Given the description of an element on the screen output the (x, y) to click on. 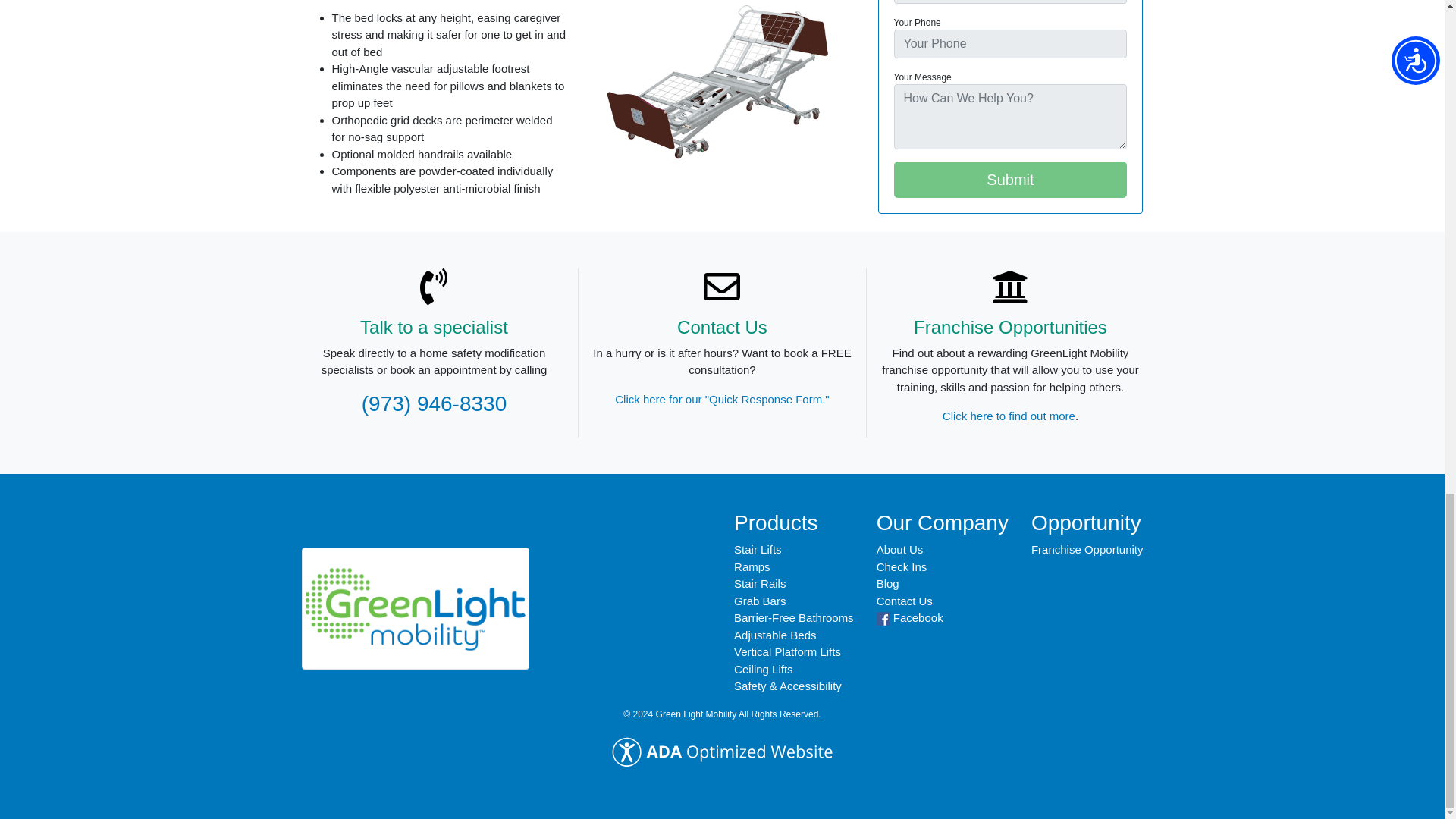
Grab Bars (759, 600)
Stair Lifts (757, 549)
Click here to find out more (1008, 415)
Adjustable Beds (774, 634)
Blog (887, 583)
Ceiling Lifts (763, 668)
Barrier-Free Bathrooms (793, 617)
Check Ins (901, 566)
About Us (899, 549)
Click here for our "Quick Response Form." (721, 399)
Vertical Platform Lifts (787, 651)
Stair Rails (759, 583)
Contact Us (904, 600)
Ramps (751, 566)
